Given the description of an element on the screen output the (x, y) to click on. 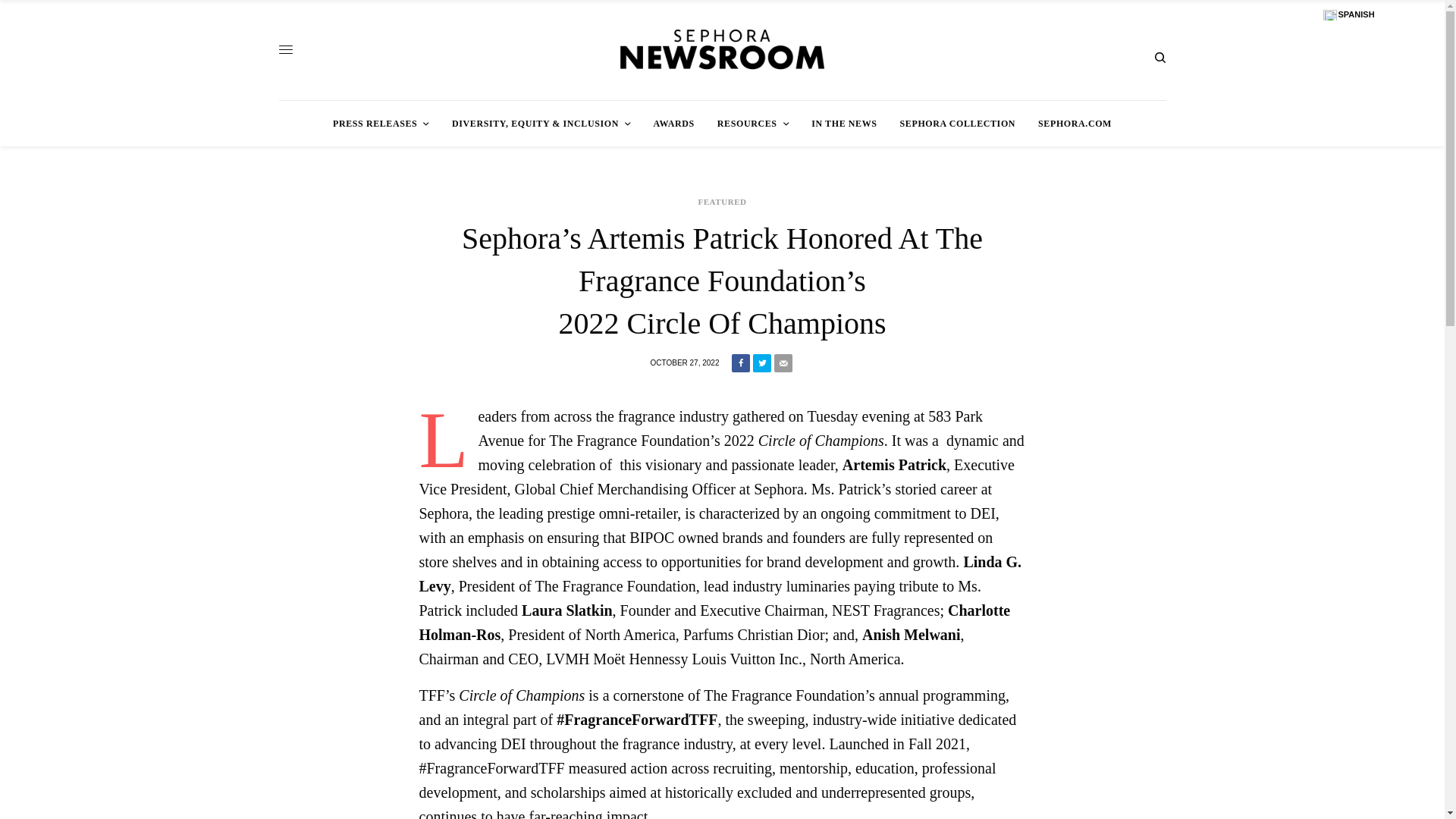
RESOURCES (753, 123)
PRESS RELEASES (381, 123)
IN THE NEWS (843, 123)
FEATURED (721, 202)
SEPHORA COLLECTION (957, 123)
SEPHORA.COM (1075, 123)
AWARDS (673, 123)
Sephora Newsroom (721, 49)
